Given the description of an element on the screen output the (x, y) to click on. 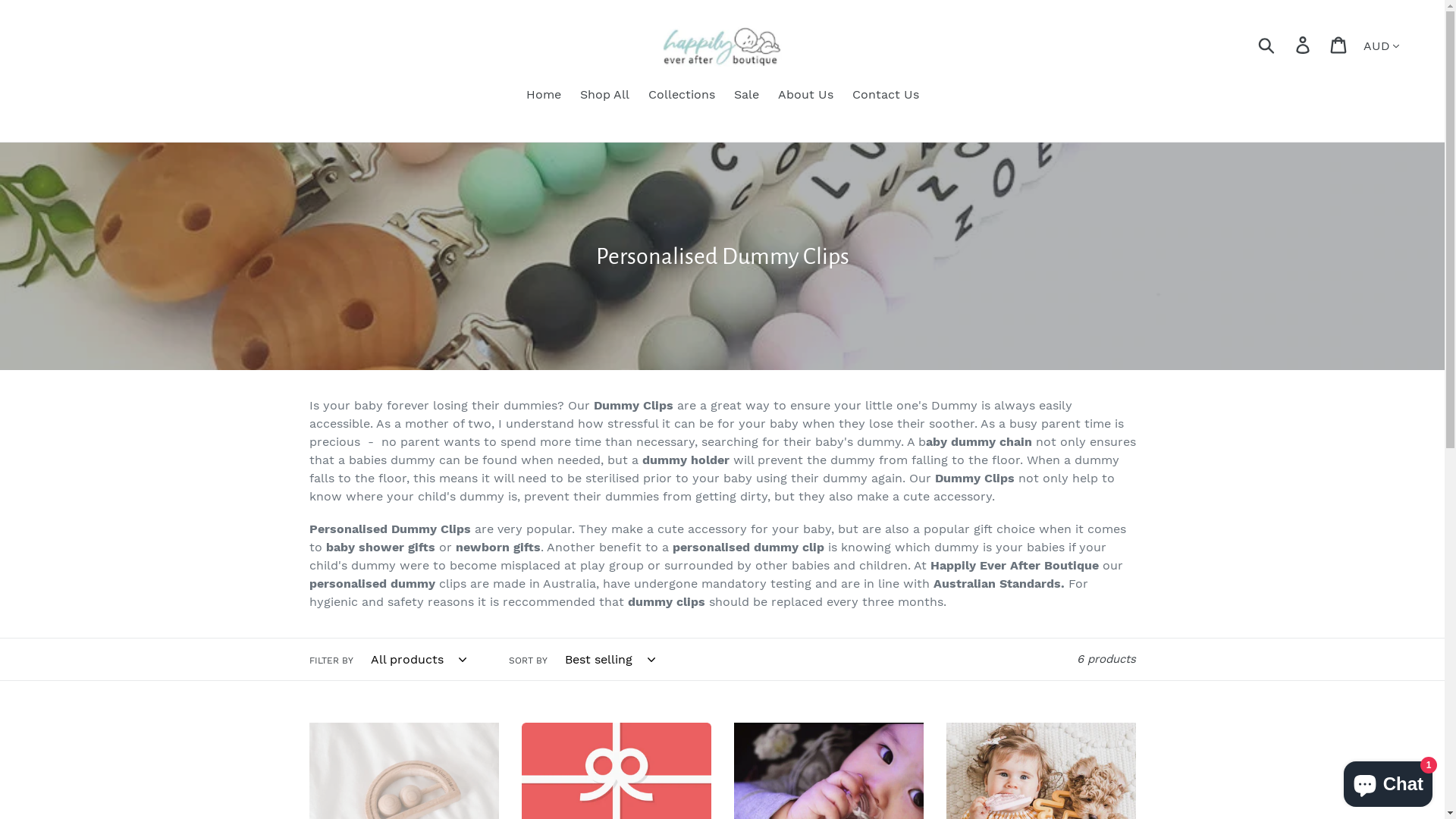
Submit Element type: text (1267, 44)
About Us Element type: text (805, 95)
Log in Element type: text (1303, 45)
Contact Us Element type: text (885, 95)
Cart Element type: text (1339, 45)
Shopify online store chat Element type: hover (1388, 780)
Sale Element type: text (746, 95)
Collections Element type: text (680, 95)
Home Element type: text (543, 95)
Shop All Element type: text (603, 95)
